Given the description of an element on the screen output the (x, y) to click on. 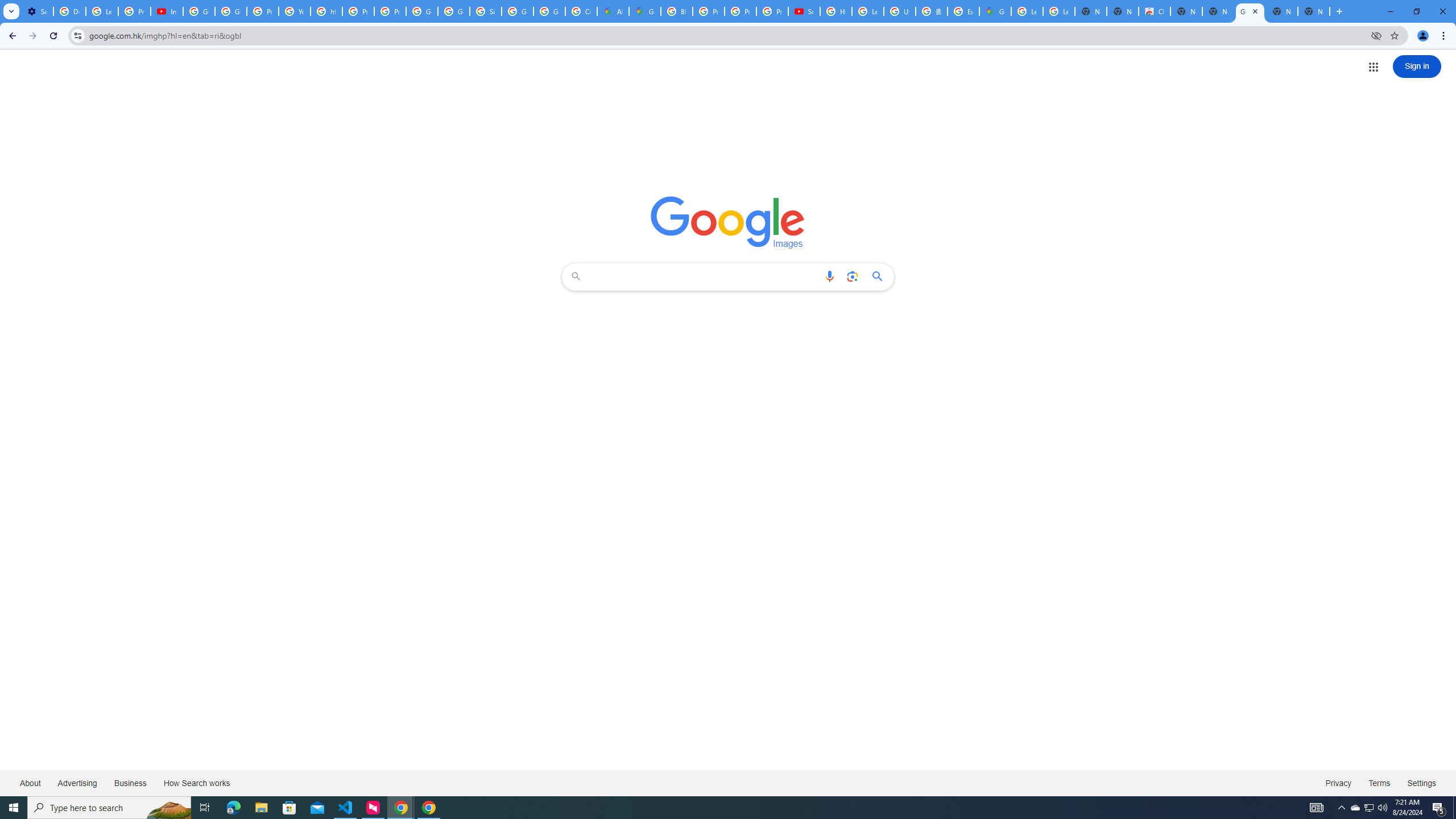
Google Images (1249, 11)
Delete photos & videos - Computer - Google Photos Help (69, 11)
Google Images (727, 222)
Privacy Help Center - Policies Help (262, 11)
Privacy Help Center - Policies Help (358, 11)
